Given the description of an element on the screen output the (x, y) to click on. 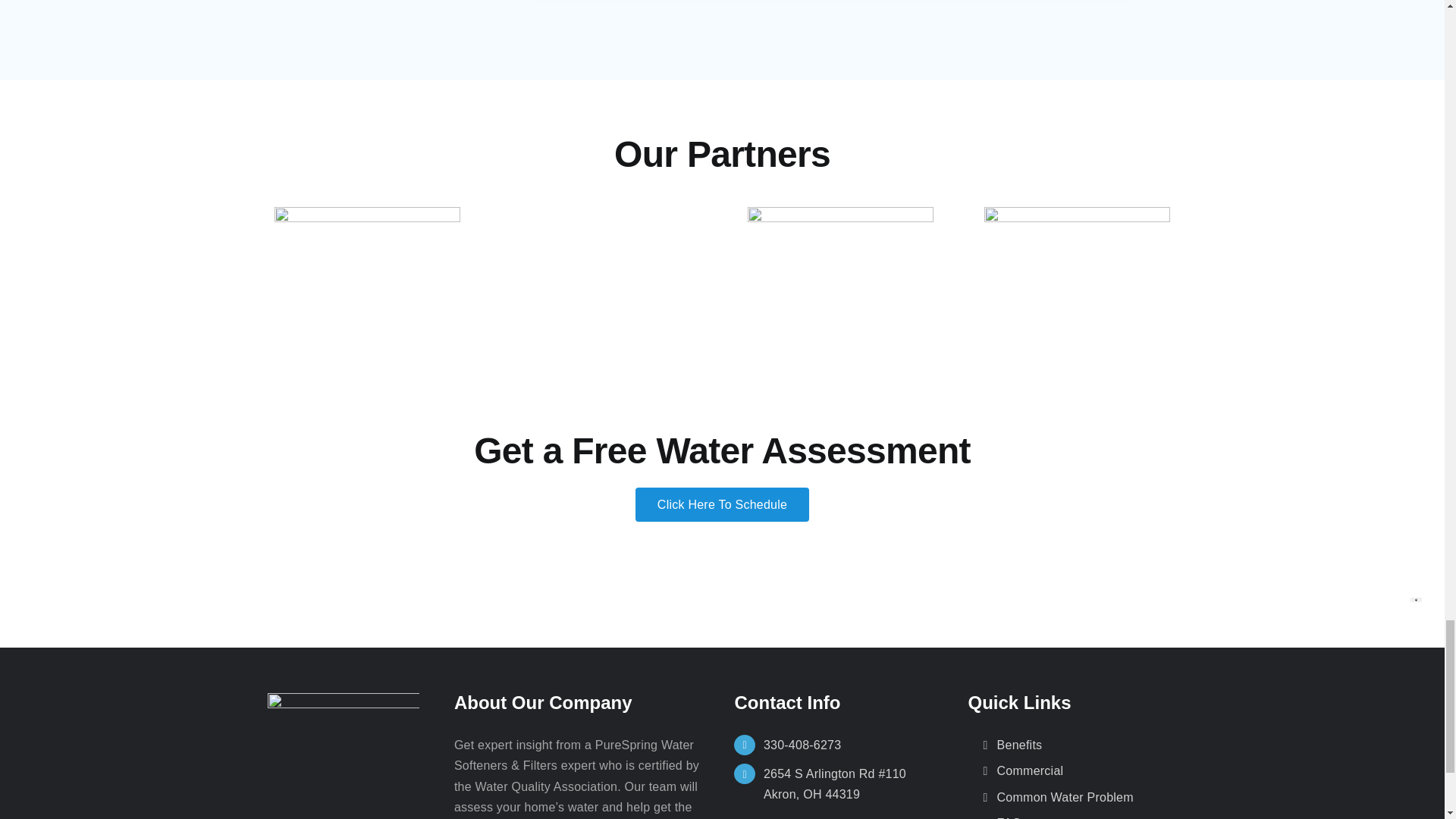
Click Here To Schedule (721, 504)
330-408-6273 (852, 744)
FAQ (1079, 816)
Commercial (1079, 771)
Common Water Problem (1079, 797)
Benefits (1079, 744)
